Given the description of an element on the screen output the (x, y) to click on. 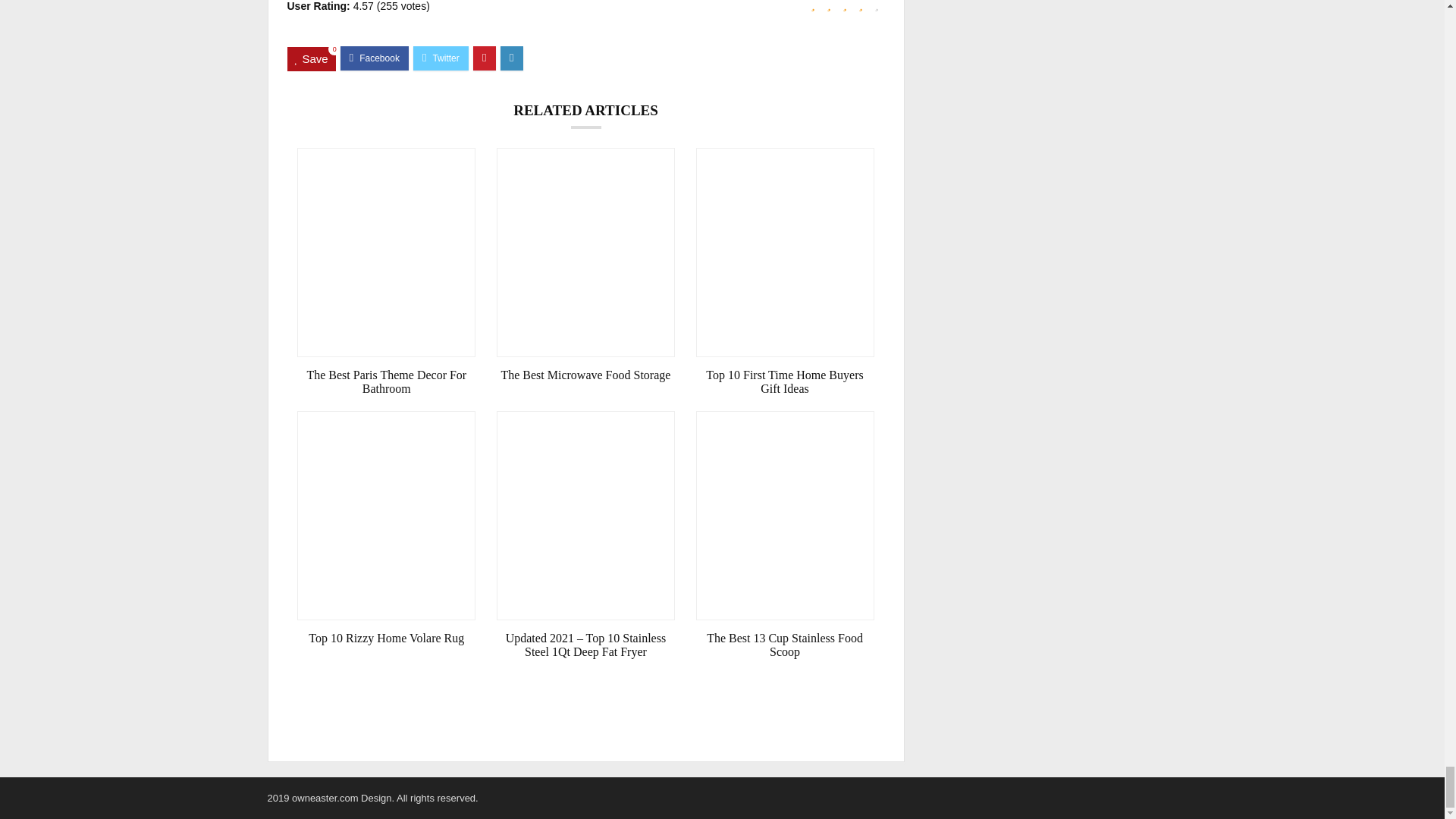
Top 10 First Time Home Buyers Gift Ideas (785, 381)
The Best Microwave Food Storage (585, 375)
The Best Paris Theme Decor For Bathroom (386, 381)
The Best 13 Cup Stainless Food Scoop (785, 645)
Top 10 Rizzy Home Volare Rug (386, 638)
